Given the description of an element on the screen output the (x, y) to click on. 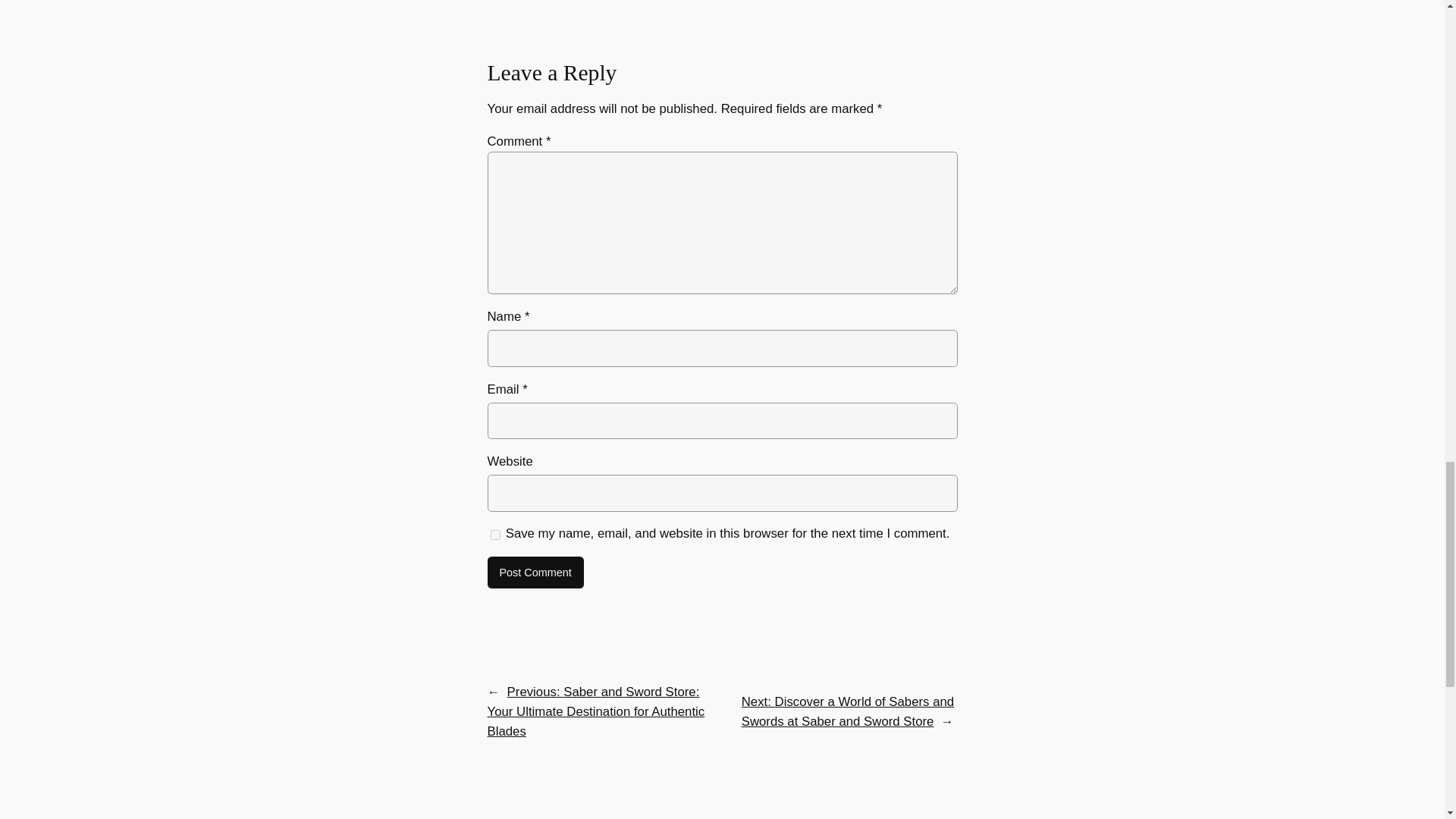
Post Comment (534, 572)
Post Comment (534, 572)
